Given the description of an element on the screen output the (x, y) to click on. 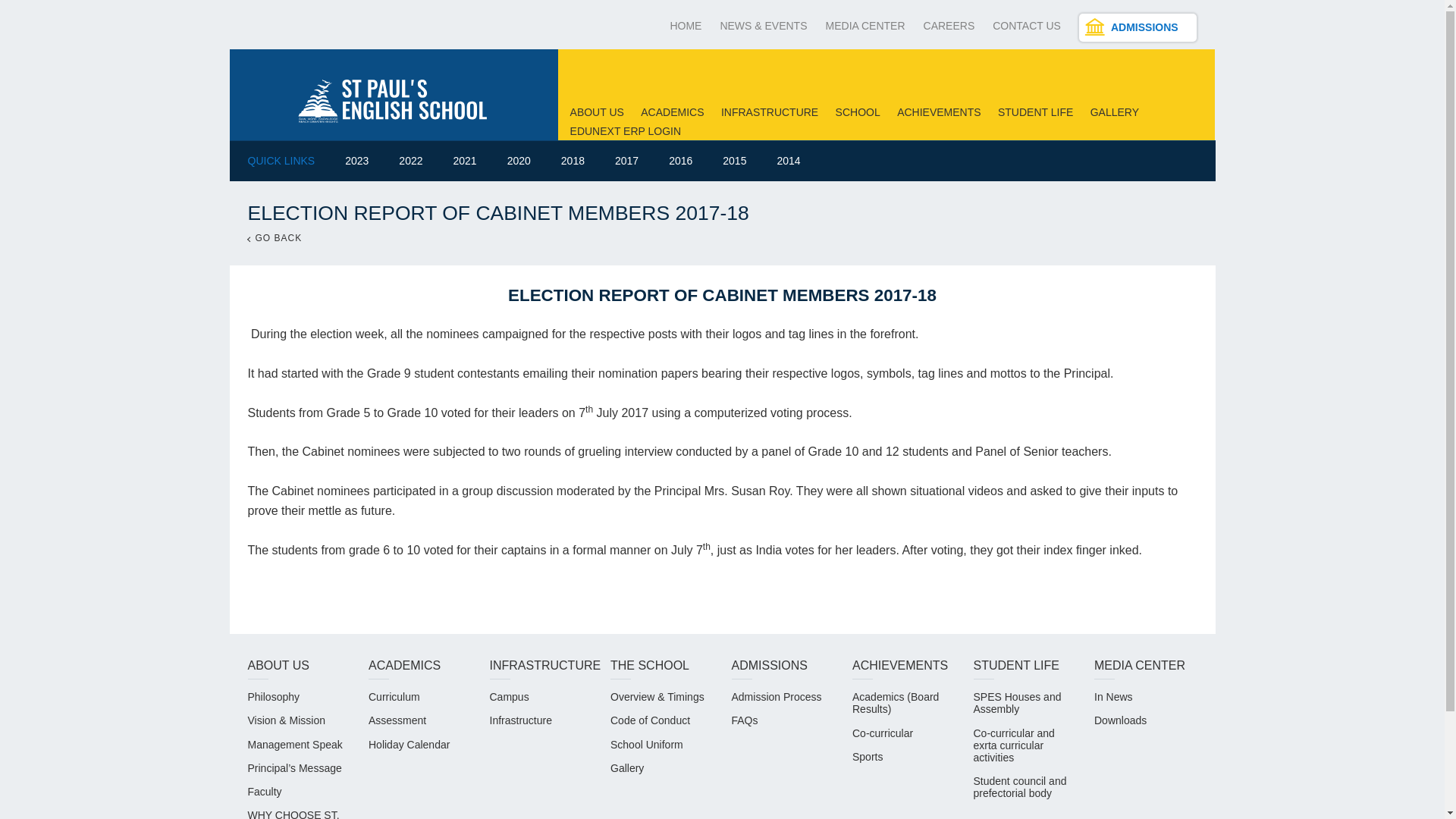
ACADEMICS (671, 112)
STUDENT LIFE (1035, 112)
INFRASTRUCTURE (769, 112)
CAREERS (949, 26)
GALLERY (1114, 112)
HOME (685, 26)
SCHOOL (857, 112)
CONTACT US (1026, 26)
ADMISSIONS (1137, 27)
ABOUT US (597, 112)
